Given the description of an element on the screen output the (x, y) to click on. 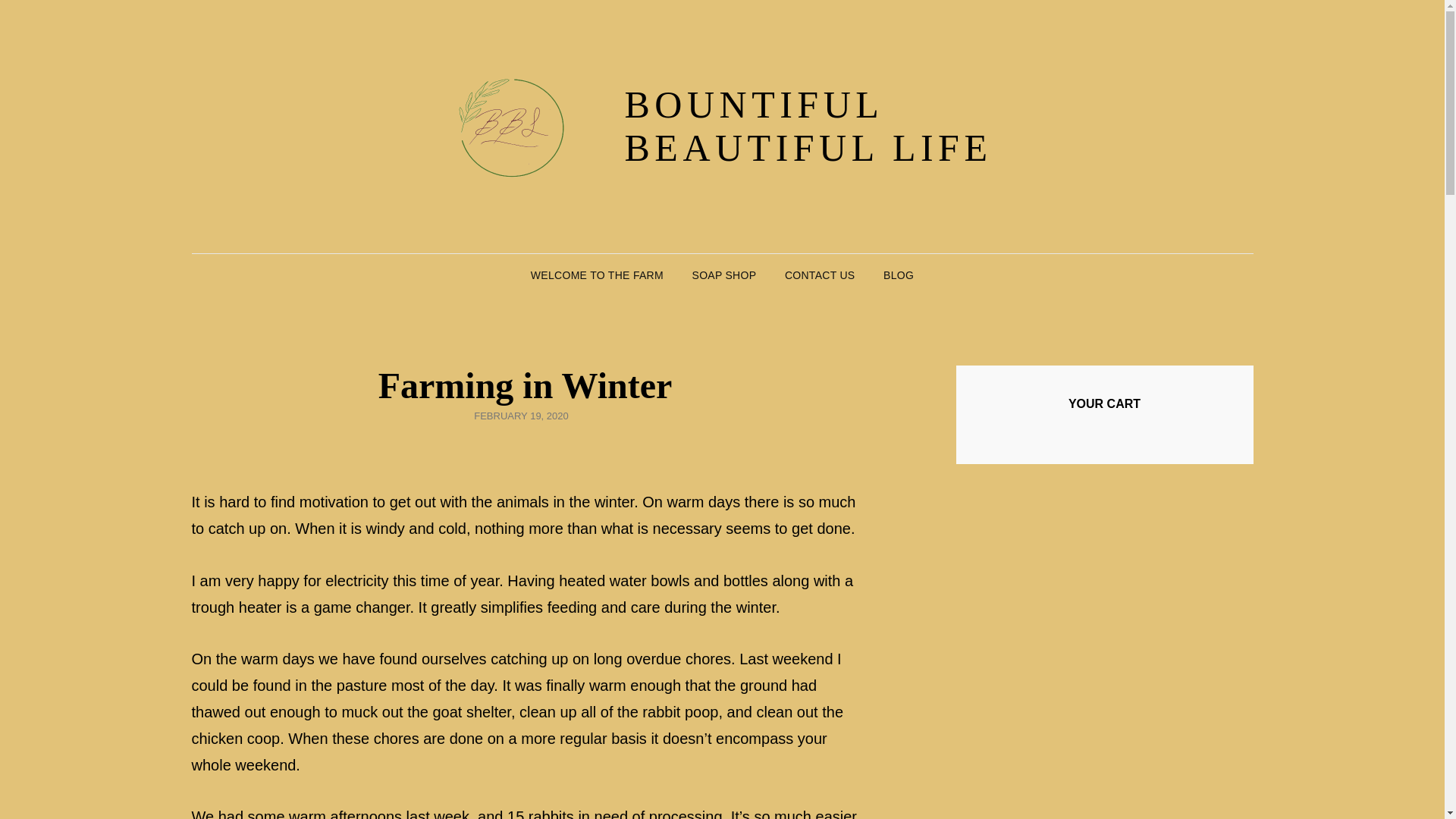
BLOG (898, 274)
CONTACT US (820, 274)
FEBRUARY 19, 2020 (521, 415)
SOAP SHOP (723, 274)
WELCOME TO THE FARM (596, 274)
BOUNTIFUL BEAUTIFUL LIFE (808, 126)
